Given the description of an element on the screen output the (x, y) to click on. 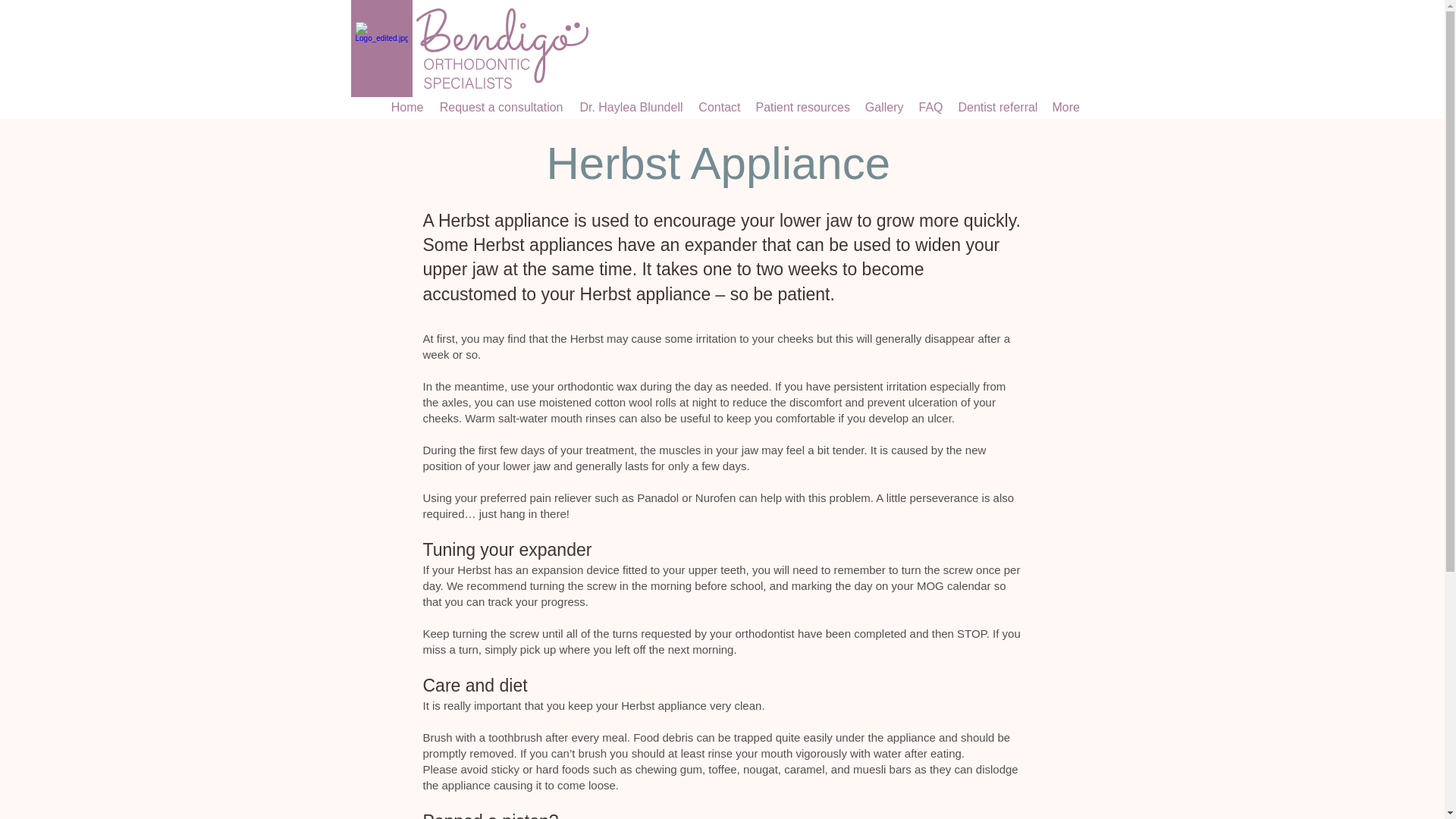
Home (407, 107)
Contact (719, 107)
Patient resources (802, 107)
FAQ (930, 107)
Dentist referral (997, 107)
Request a consultation (500, 107)
Gallery (884, 107)
Dr. Haylea Blundell (630, 107)
